Given the description of an element on the screen output the (x, y) to click on. 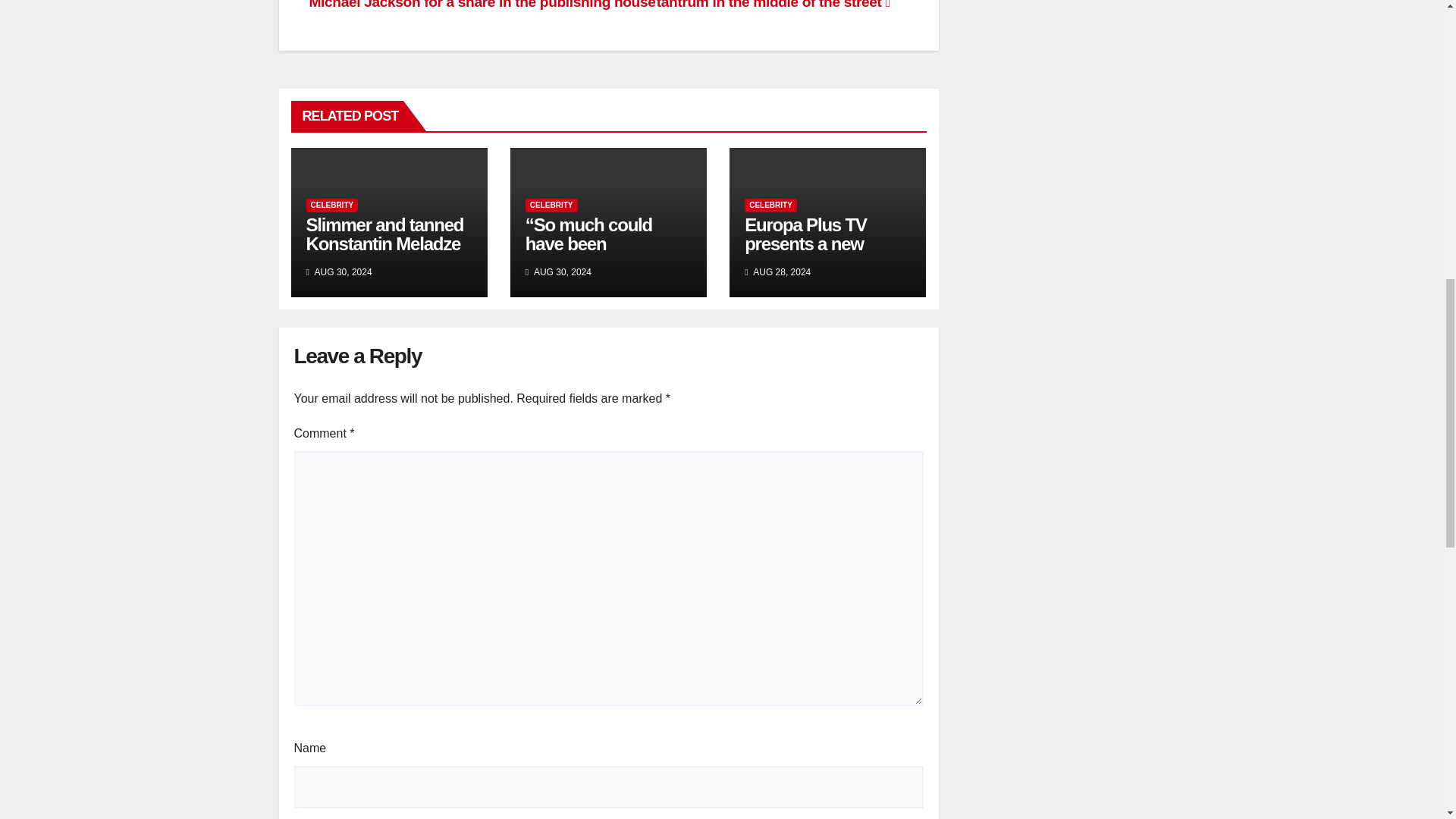
CELEBRITY (551, 205)
CELEBRITY (331, 205)
CELEBRITY (770, 205)
